Given the description of an element on the screen output the (x, y) to click on. 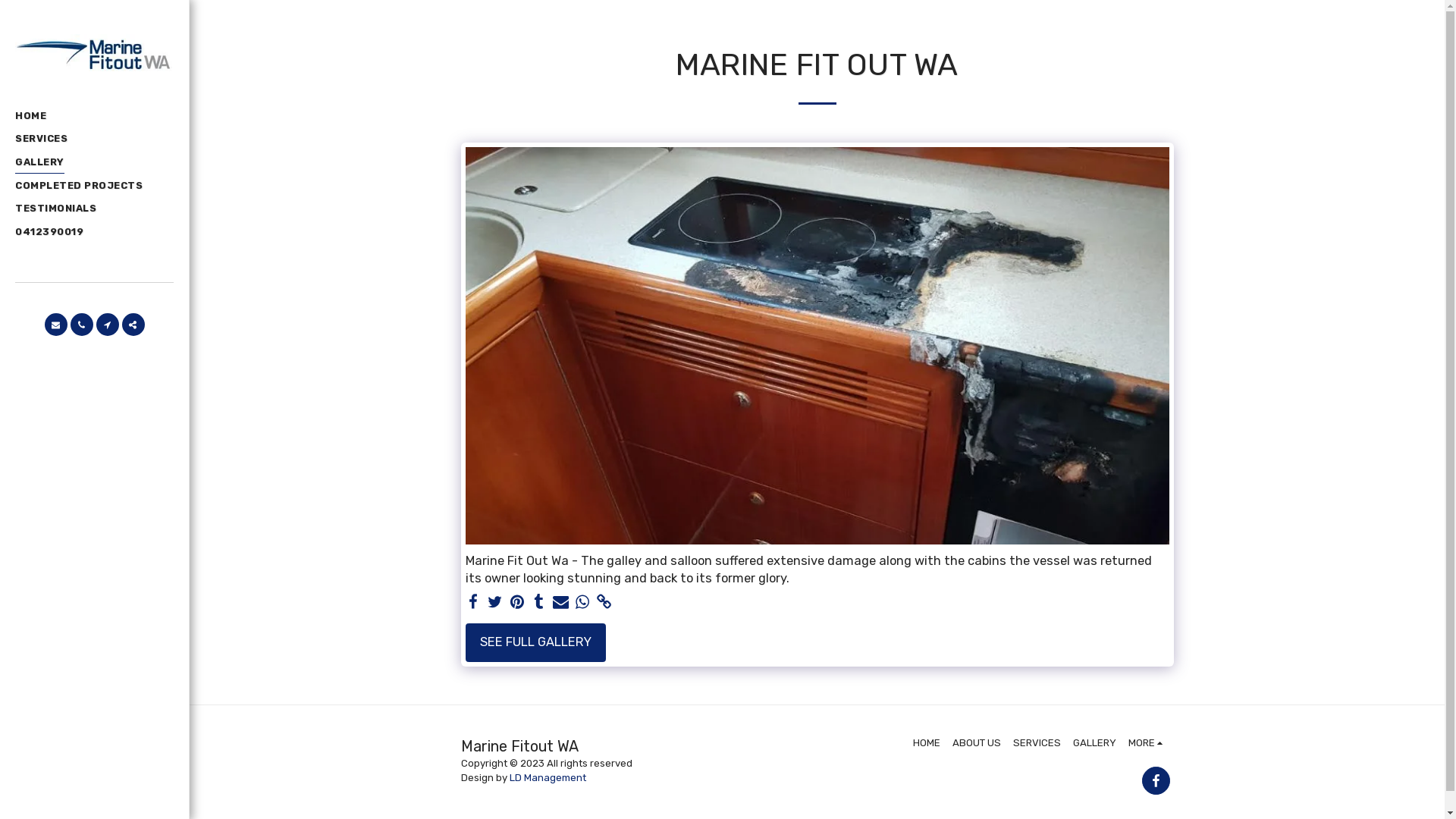
Pin it Element type: hover (516, 602)
  Element type: text (132, 324)
HOME Element type: text (926, 742)
Share by Email Element type: hover (560, 602)
  Element type: text (582, 602)
link Element type: hover (604, 602)
GALLERY Element type: text (39, 162)
  Element type: text (106, 324)
tumblr Element type: hover (538, 602)
ABOUT US Element type: text (976, 742)
  Element type: text (1156, 780)
  Element type: text (80, 324)
HOME Element type: text (30, 115)
Share on Facebook Element type: hover (473, 602)
  Element type: text (538, 602)
TESTIMONIALS Element type: text (55, 208)
LD Management Element type: text (547, 777)
SERVICES Element type: text (41, 139)
  Element type: text (473, 602)
  Element type: text (494, 602)
  Element type: text (560, 602)
whatsapp Element type: hover (582, 602)
GALLERY Element type: text (1094, 742)
  Element type: text (54, 324)
SEE FULL GALLERY Element type: text (535, 642)
Tweet Element type: hover (494, 602)
COMPLETED PROJECTS Element type: text (78, 185)
SERVICES Element type: text (1036, 742)
0412390019 Element type: text (49, 231)
  Element type: text (604, 602)
MORE   Element type: text (1147, 742)
  Element type: text (516, 602)
